Given the description of an element on the screen output the (x, y) to click on. 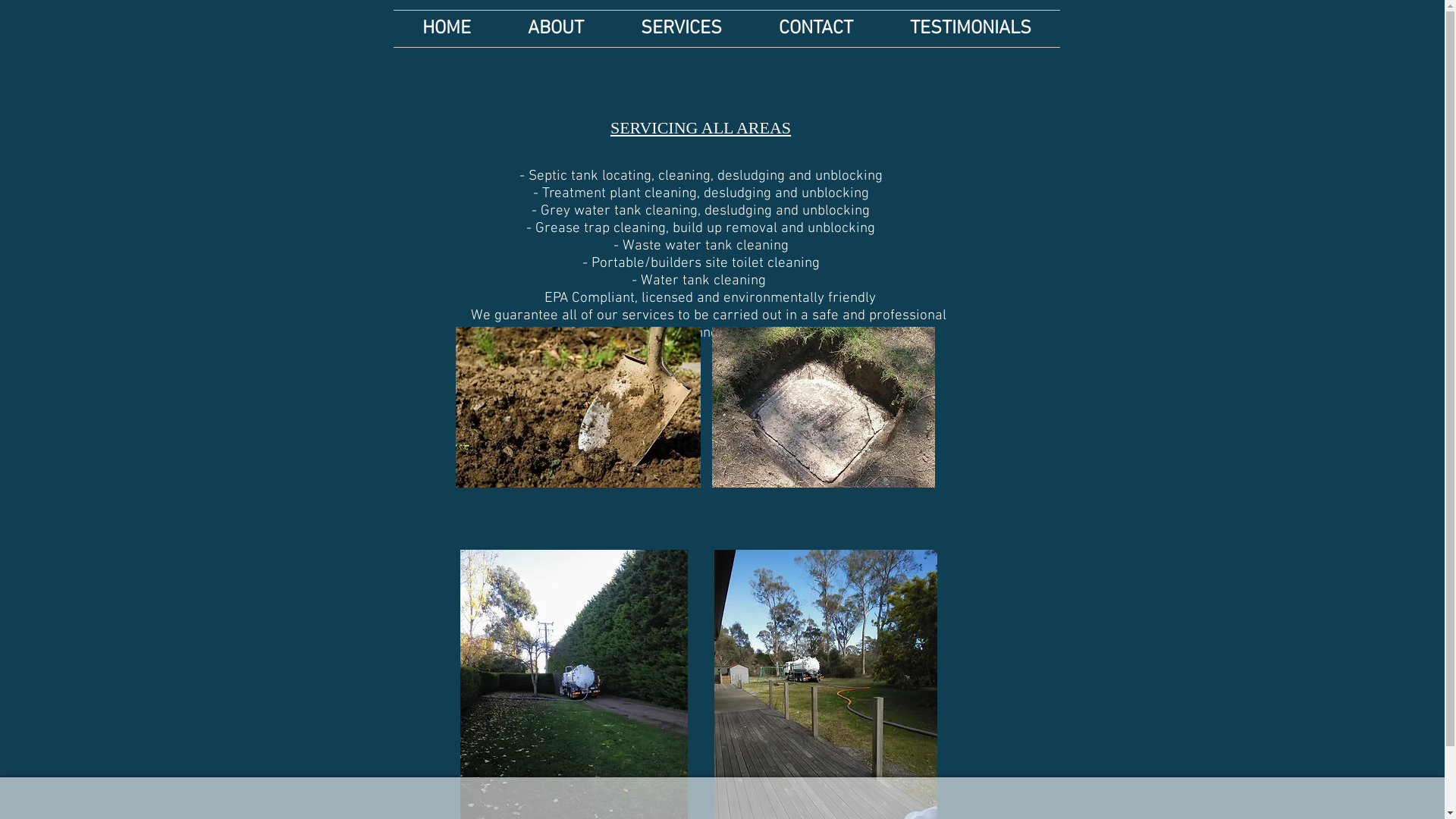
HOME Element type: text (445, 28)
TESTIMONIALS Element type: text (970, 28)
ABOUT Element type: text (554, 28)
CONTACT Element type: text (815, 28)
SERVICES Element type: text (681, 28)
